Given the description of an element on the screen output the (x, y) to click on. 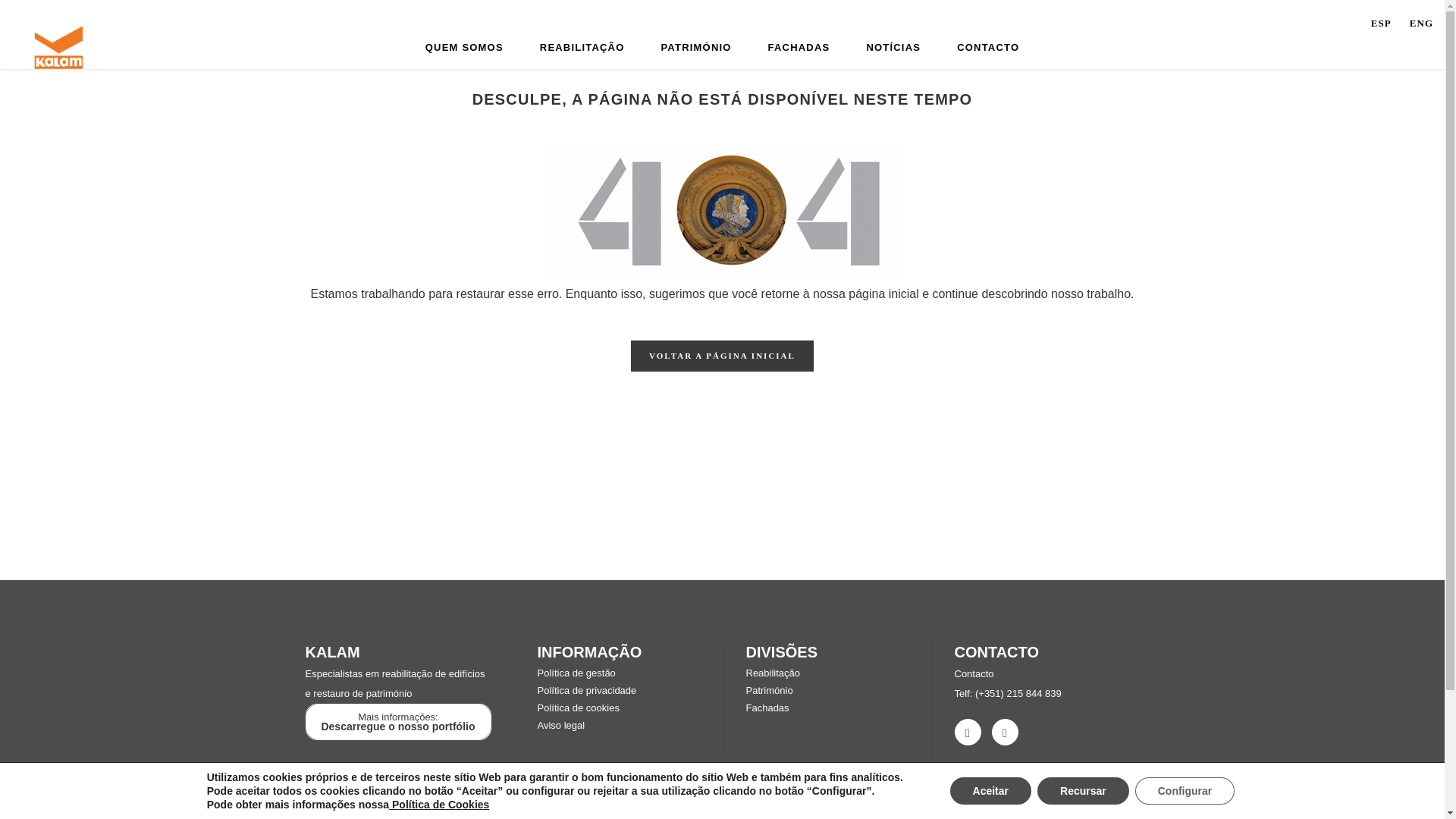
ENG (1420, 22)
linkedin (966, 731)
vimeo (1004, 731)
Recursar (1082, 790)
ESP (1388, 22)
Aceitar (990, 790)
FACHADAS (798, 46)
Configurar (1184, 790)
CONTACTO (987, 46)
Aviso legal (561, 725)
Fachadas (767, 707)
QUEM SOMOS (464, 46)
Contacto (972, 673)
